Given the description of an element on the screen output the (x, y) to click on. 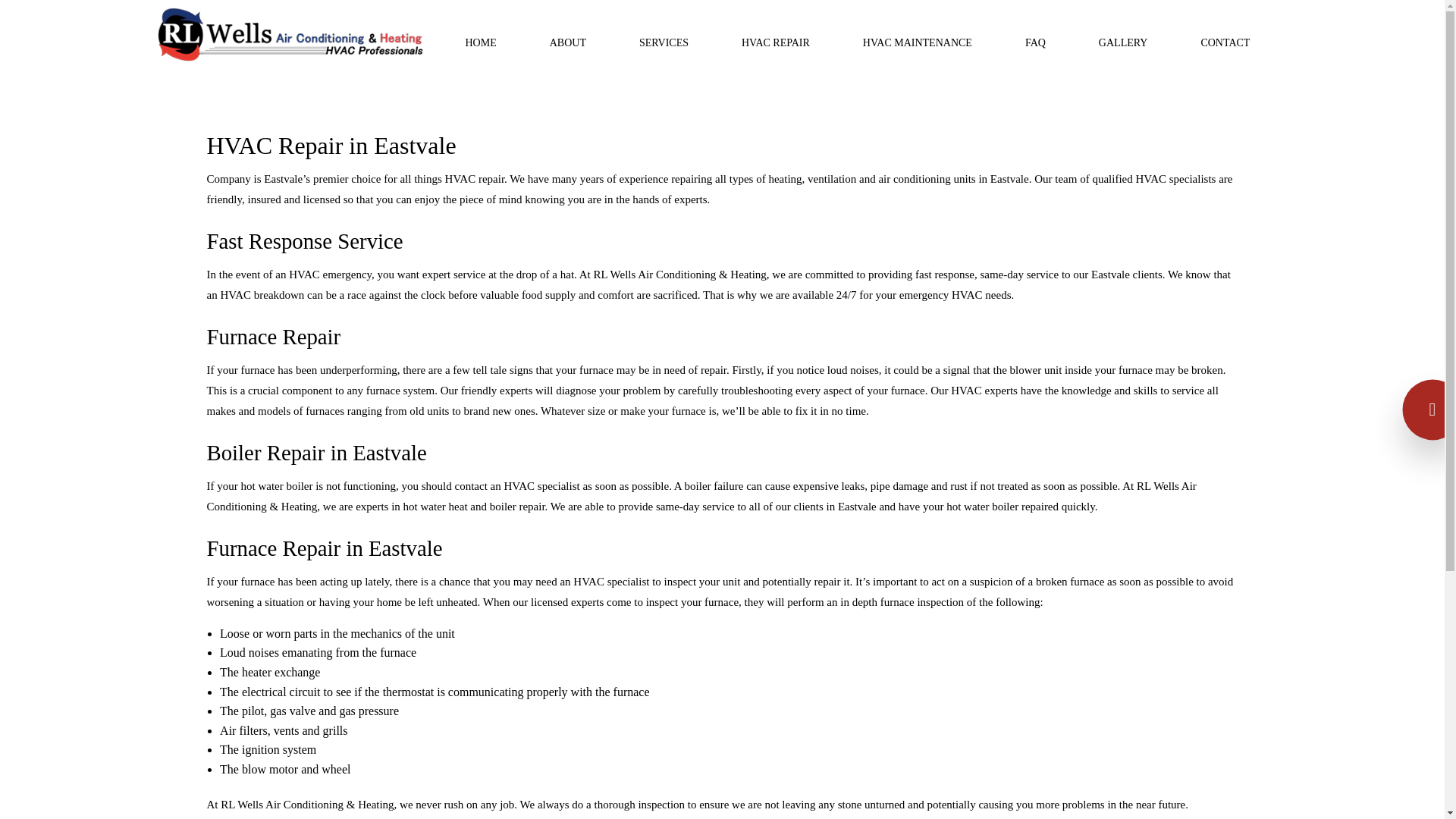
HEAT PUMPS (678, 298)
SERVICES (663, 42)
ABOUT (567, 42)
COMMERCIAL HVAC (678, 233)
HOME (480, 42)
INDOOR AIR QUALITY (678, 135)
HVAC INSTALLATION AND DESIGN (678, 102)
HVAC CONTRACTOR (678, 331)
SERVICE AREAS (582, 102)
AIR CONDITIONERS (678, 200)
